Given the description of an element on the screen output the (x, y) to click on. 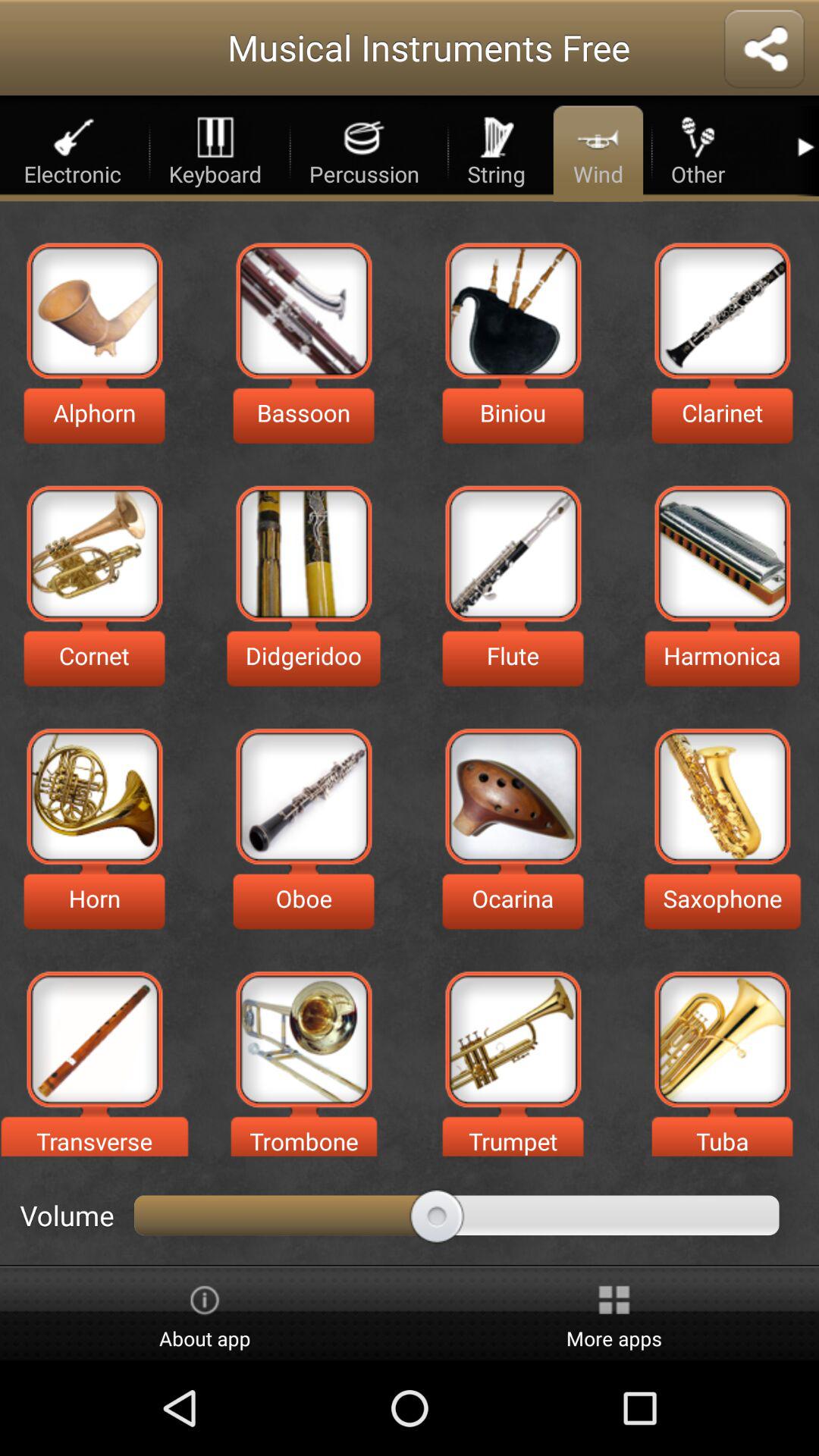
select this option (94, 310)
